Given the description of an element on the screen output the (x, y) to click on. 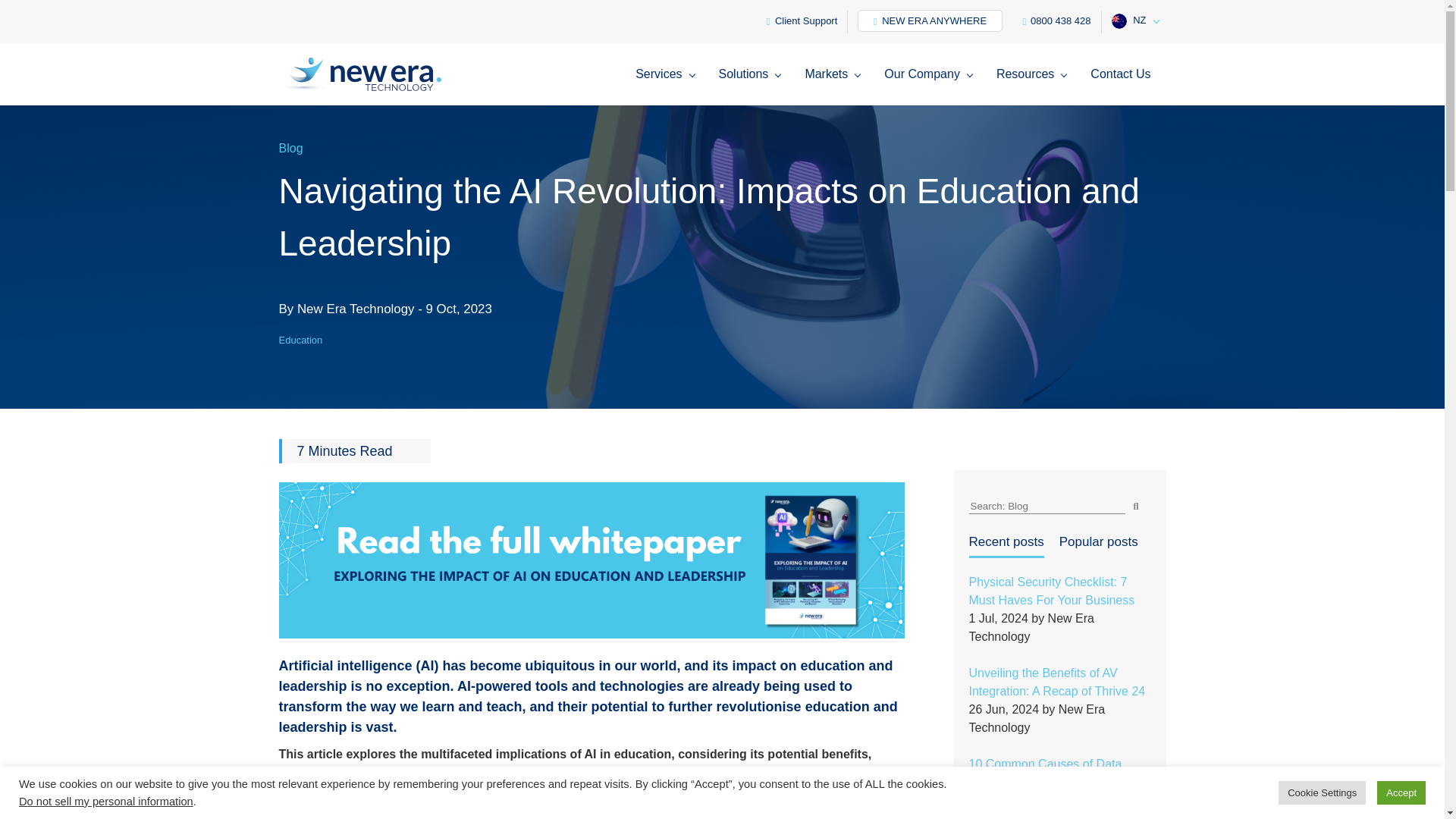
NZ (1134, 21)
Solutions (754, 86)
Markets (836, 86)
0800 438 428 (1056, 21)
Education (301, 339)
Client Support (802, 21)
NEW ERA ANYWHERE (929, 20)
Services (667, 86)
